Given the description of an element on the screen output the (x, y) to click on. 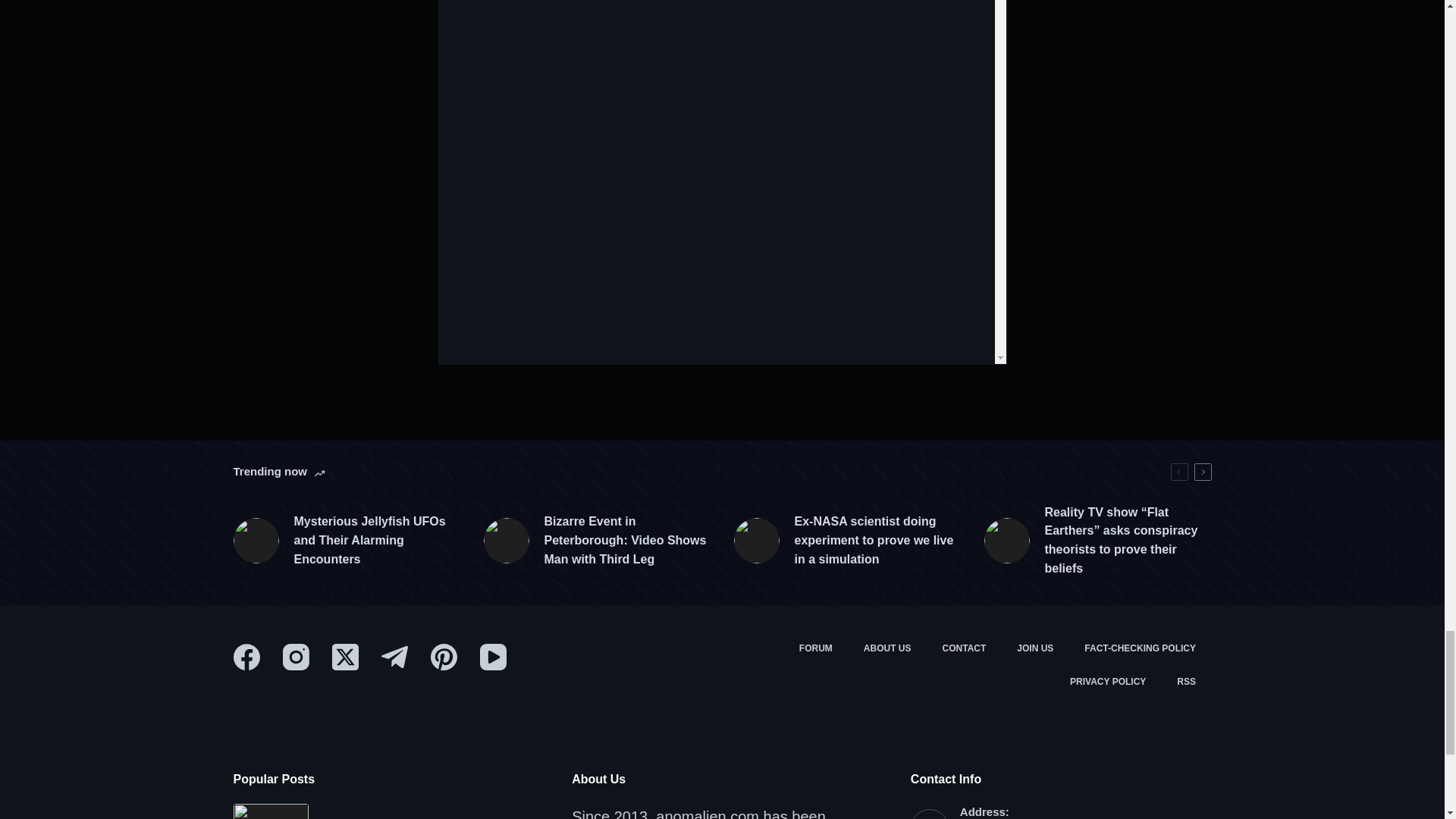
Contact us (964, 648)
Discussion Forum (815, 648)
